Given the description of an element on the screen output the (x, y) to click on. 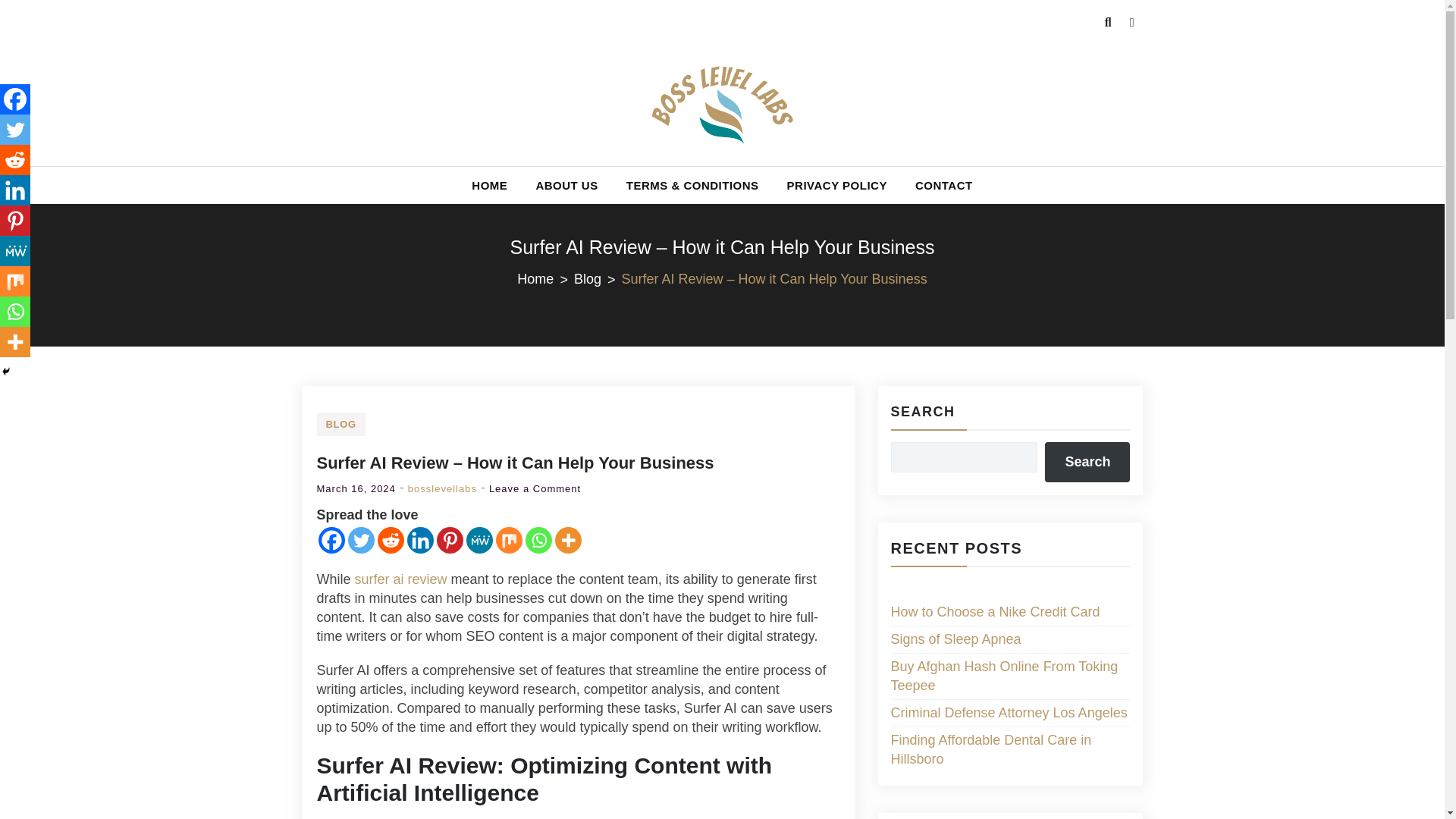
Facebook (331, 540)
BLOG (341, 423)
Twitter (15, 129)
Facebook (15, 99)
Reddit (15, 159)
surfer ai review (400, 579)
Reddit (390, 540)
HOME (489, 185)
More (567, 540)
Blog (597, 279)
